Given the description of an element on the screen output the (x, y) to click on. 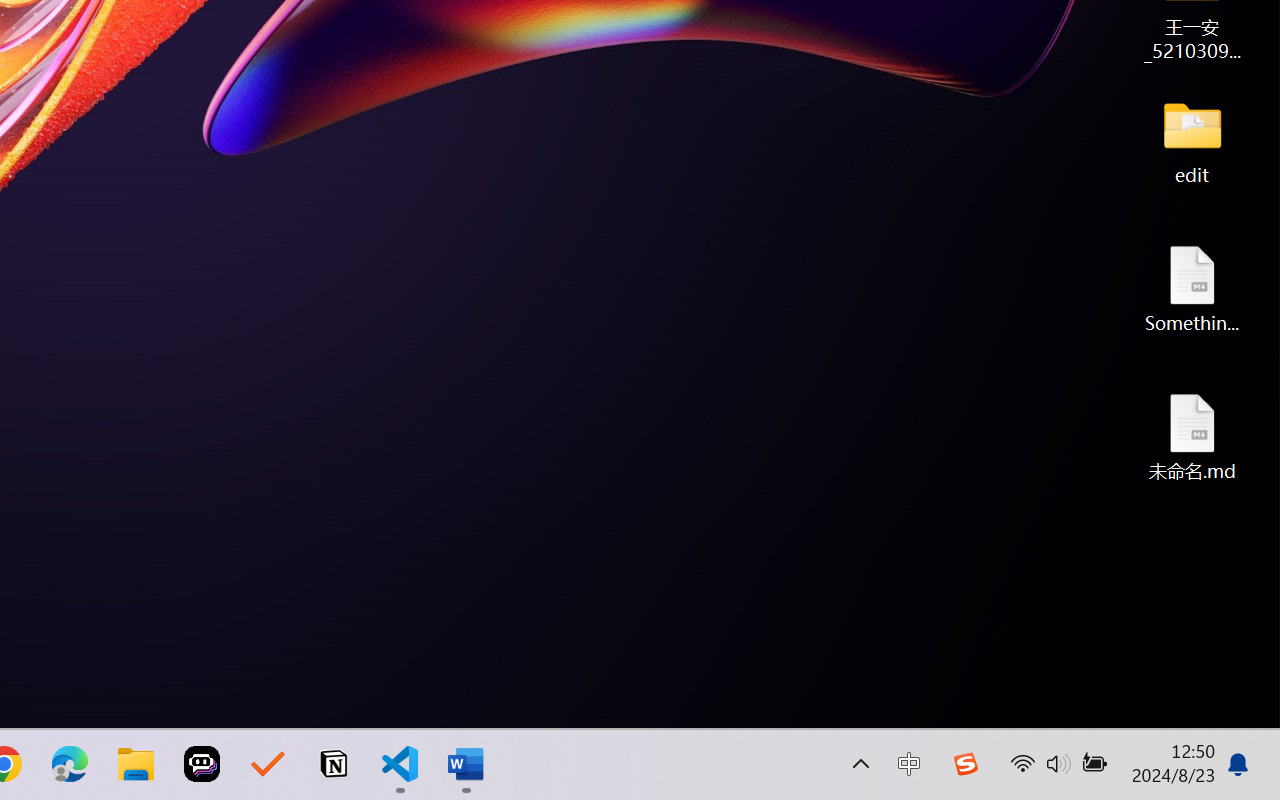
Microsoft Edge (69, 764)
edit (1192, 140)
Something.md (1192, 288)
